Given the description of an element on the screen output the (x, y) to click on. 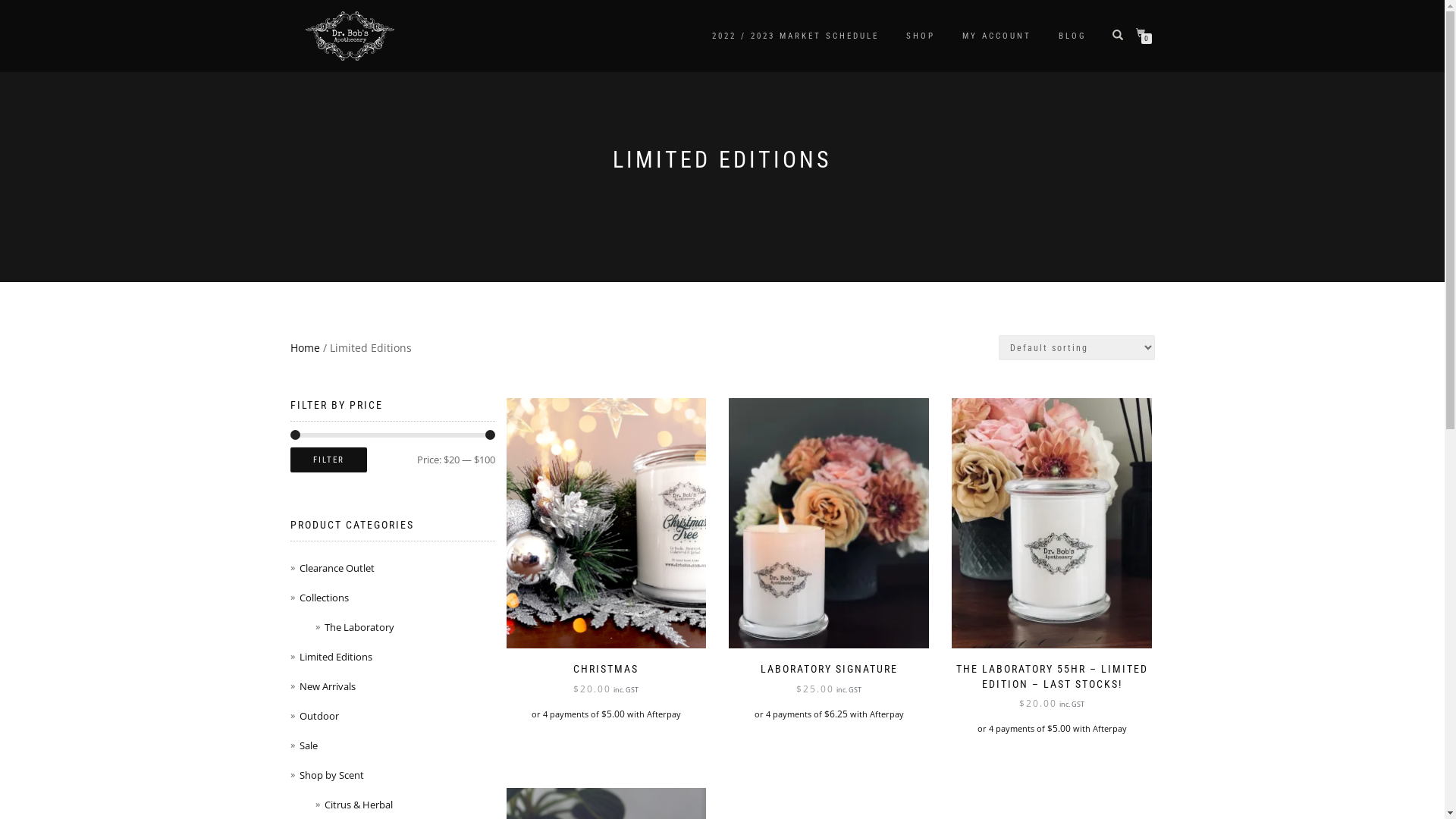
FILTER Element type: text (327, 459)
0 Element type: text (1143, 33)
SHOP Element type: text (920, 35)
MY ACCOUNT Element type: text (996, 35)
Limited Editions Element type: text (334, 656)
Collections Element type: text (323, 597)
Laboratory 2 Element type: hover (1051, 523)
2022 / 2023 MARKET SCHEDULE Element type: text (795, 35)
New Arrivals Element type: text (326, 686)
Clearance Outlet Element type: text (335, 567)
5 Element type: hover (828, 523)
Shop by Scent Element type: text (330, 774)
BLOG Element type: text (1071, 35)
Citrus & Herbal Element type: text (358, 804)
Sale Element type: text (307, 745)
Outdoor Element type: text (318, 715)
The Laboratory Element type: text (359, 626)
Home Element type: text (304, 347)
